Given the description of an element on the screen output the (x, y) to click on. 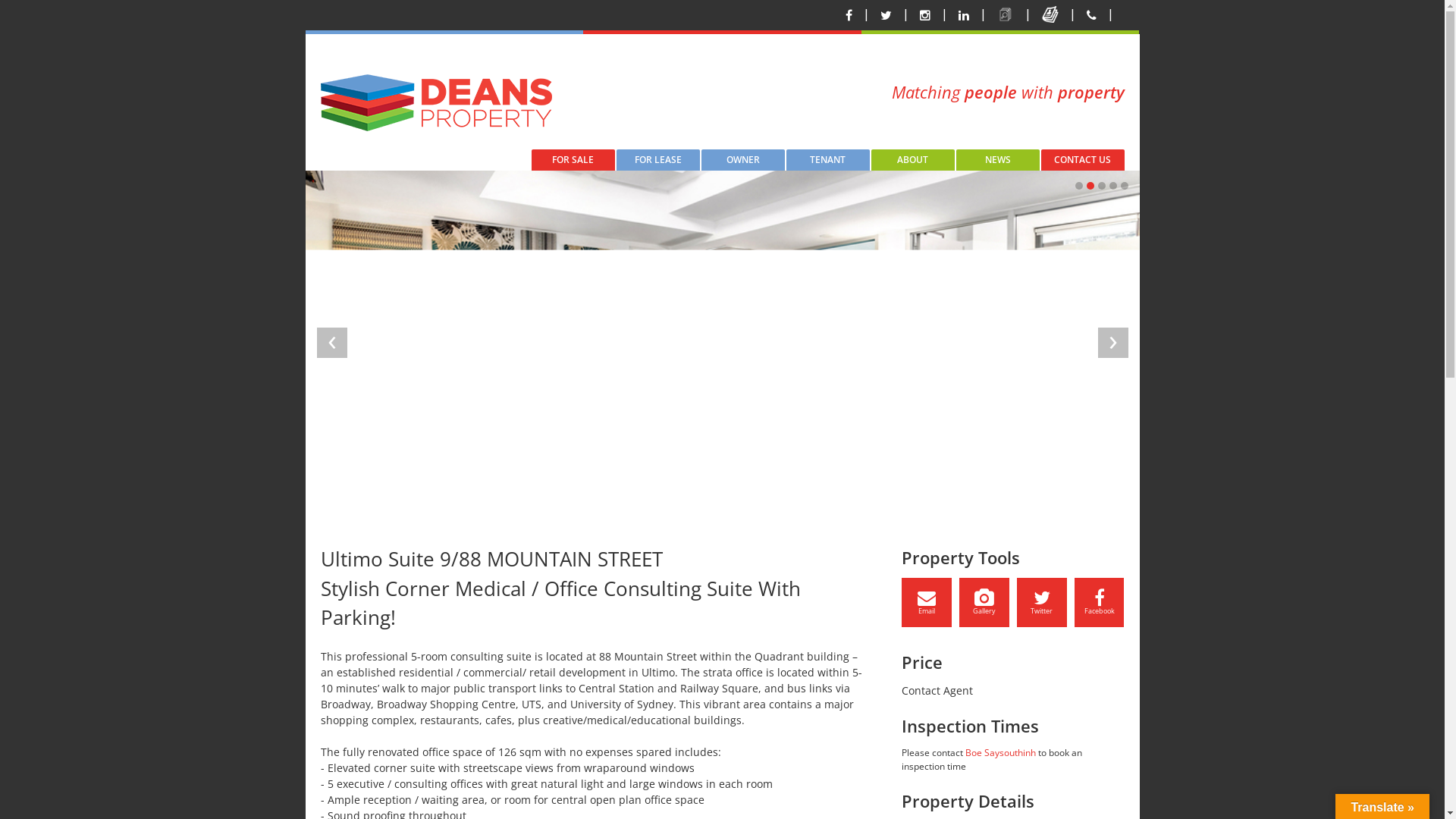
Deans Property - Matching People With Property Element type: hover (435, 102)
Facebook Element type: text (1099, 602)
Instagram Element type: hover (924, 14)
Twitter Element type: hover (885, 14)
Facebook Element type: hover (847, 14)
Email Element type: text (926, 602)
OWNER Element type: text (742, 159)
FOR SALE Element type: text (572, 159)
Magazine Element type: hover (1051, 14)
Gallery Element type: text (984, 602)
NEWS Element type: text (996, 159)
TENANT Element type: text (827, 159)
Linkedin Element type: hover (963, 14)
Case Studies Element type: hover (1006, 14)
CONTACT US Element type: text (1081, 159)
FOR LEASE Element type: text (657, 159)
Boe Saysouthinh Element type: text (1000, 752)
Twitter Element type: text (1041, 602)
ABOUT Element type: text (911, 159)
